Given the description of an element on the screen output the (x, y) to click on. 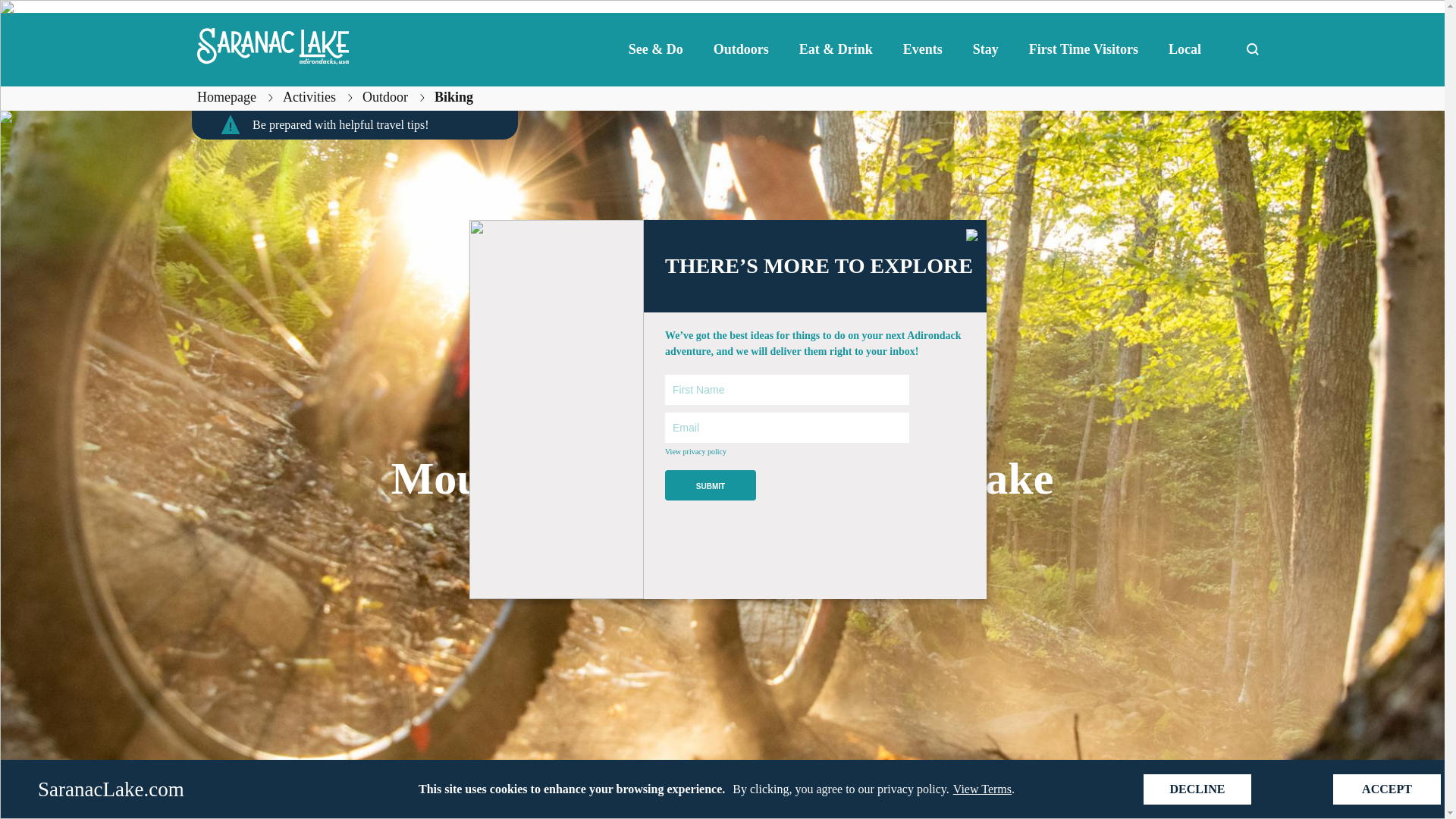
Submit (710, 485)
Outdoors (741, 48)
